Given the description of an element on the screen output the (x, y) to click on. 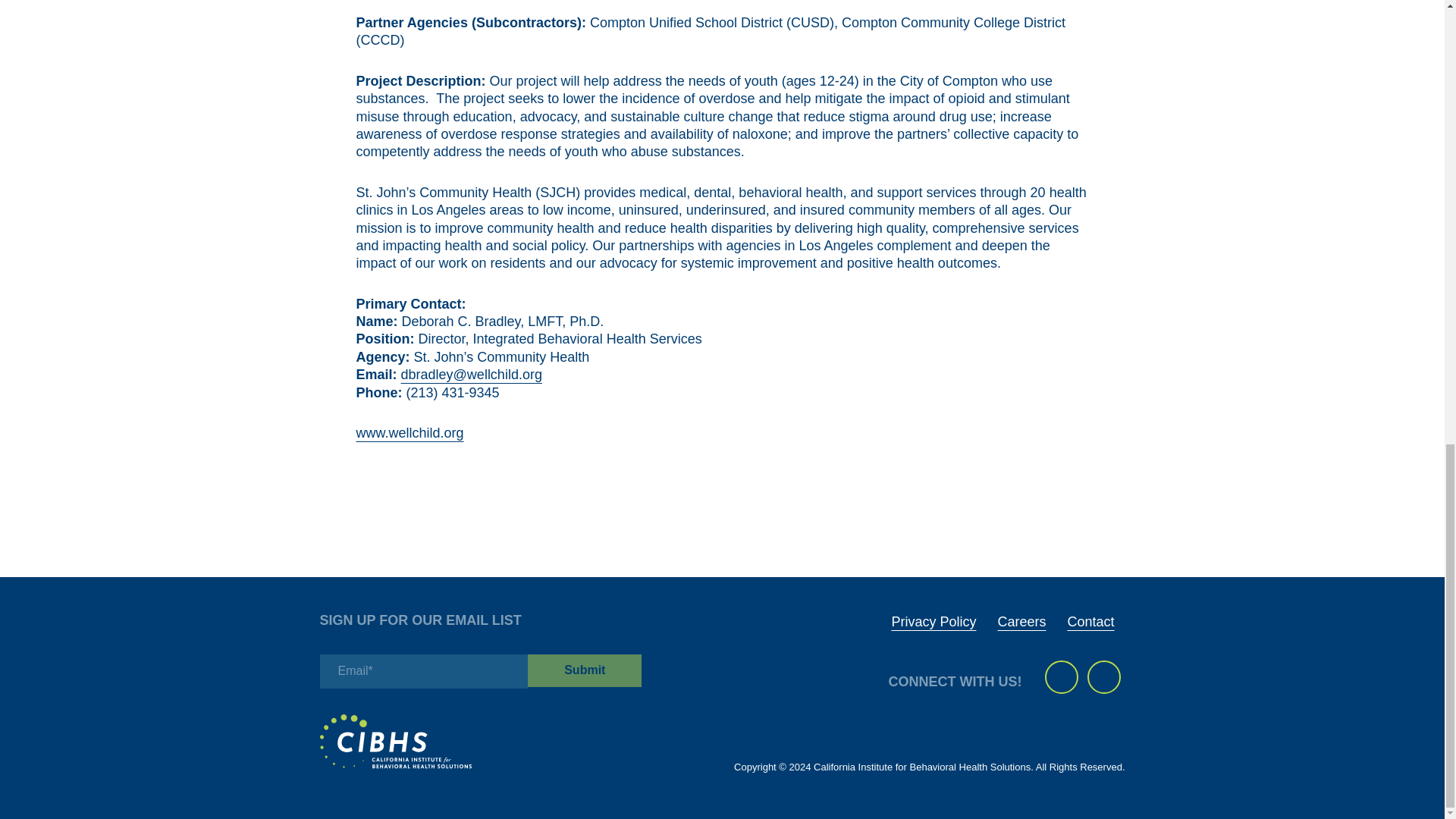
Privacy Policy (933, 621)
www.wellchild.org (410, 432)
Submit (584, 670)
Careers (1021, 621)
Contact (1090, 621)
logo white Created with Sketch. (395, 741)
